Given the description of an element on the screen output the (x, y) to click on. 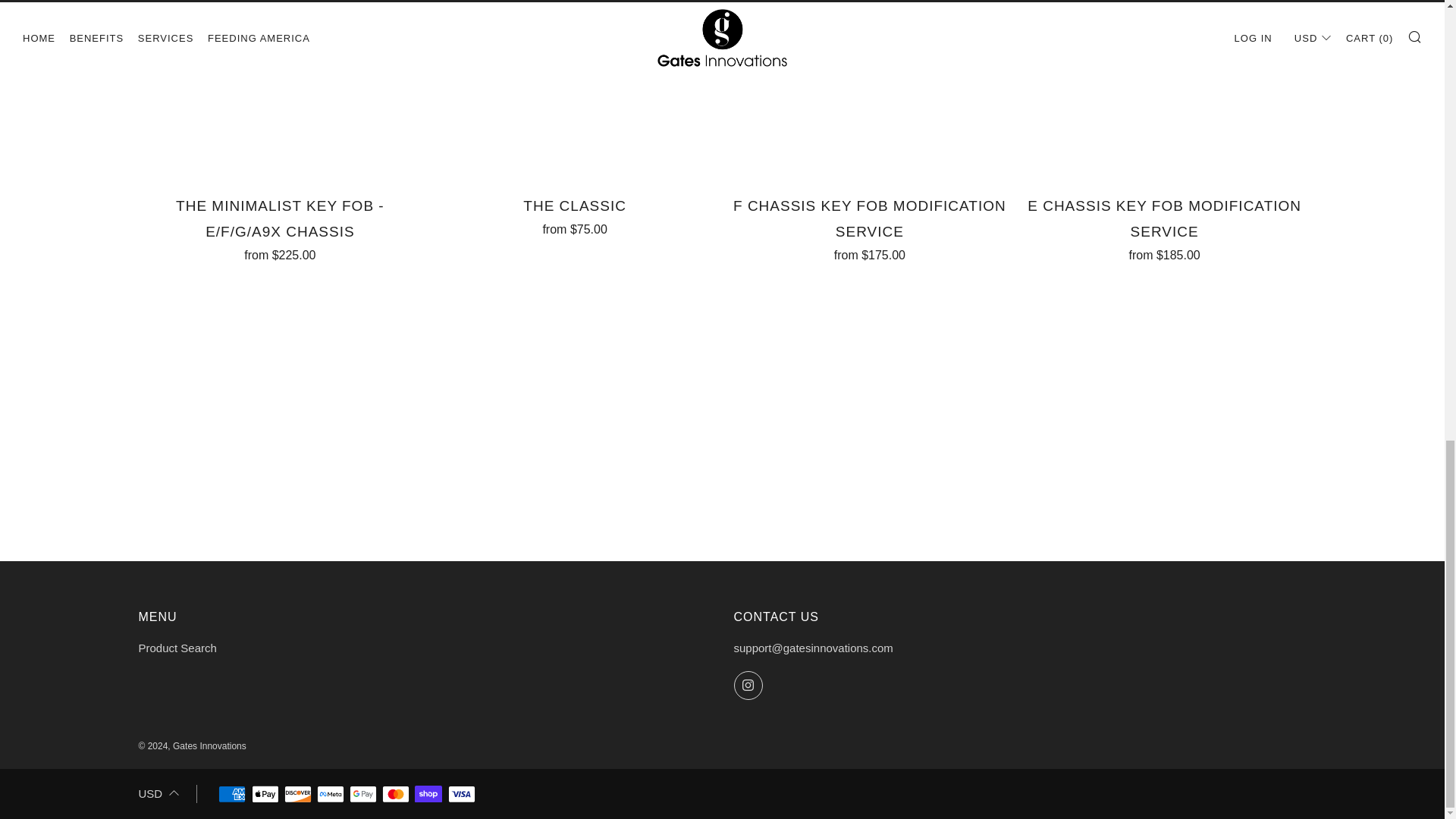
E Chassis Key Fob Modification Service (1164, 226)
F Chassis Key Fob Modification Service (869, 226)
The Classic (574, 213)
